Given the description of an element on the screen output the (x, y) to click on. 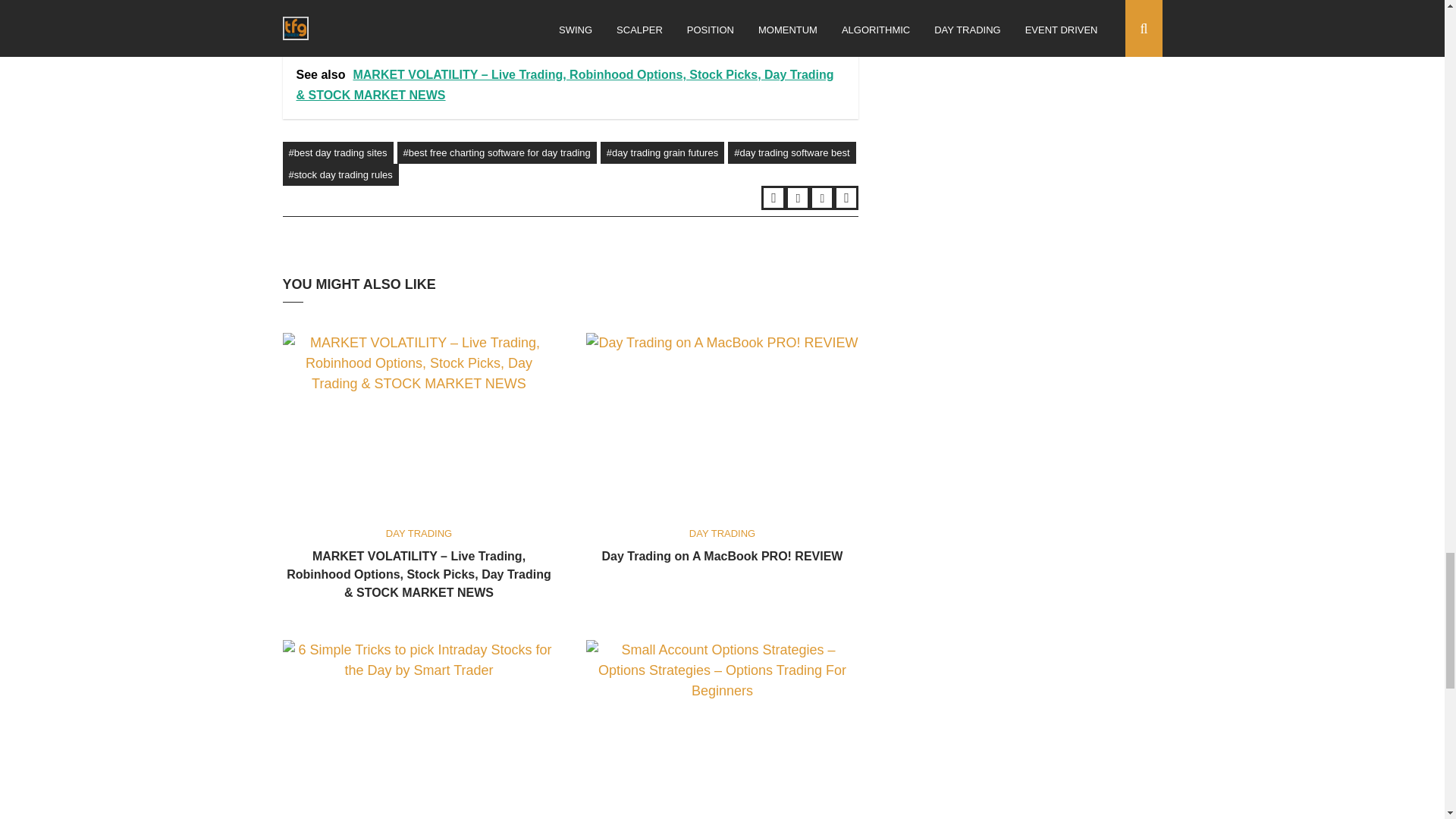
Pinterest (846, 197)
DAY TRADING (721, 532)
DAY TRADING (418, 532)
Facebook (797, 197)
Day Trading on A MacBook PRO! REVIEW (722, 555)
Twitter (773, 197)
